Given the description of an element on the screen output the (x, y) to click on. 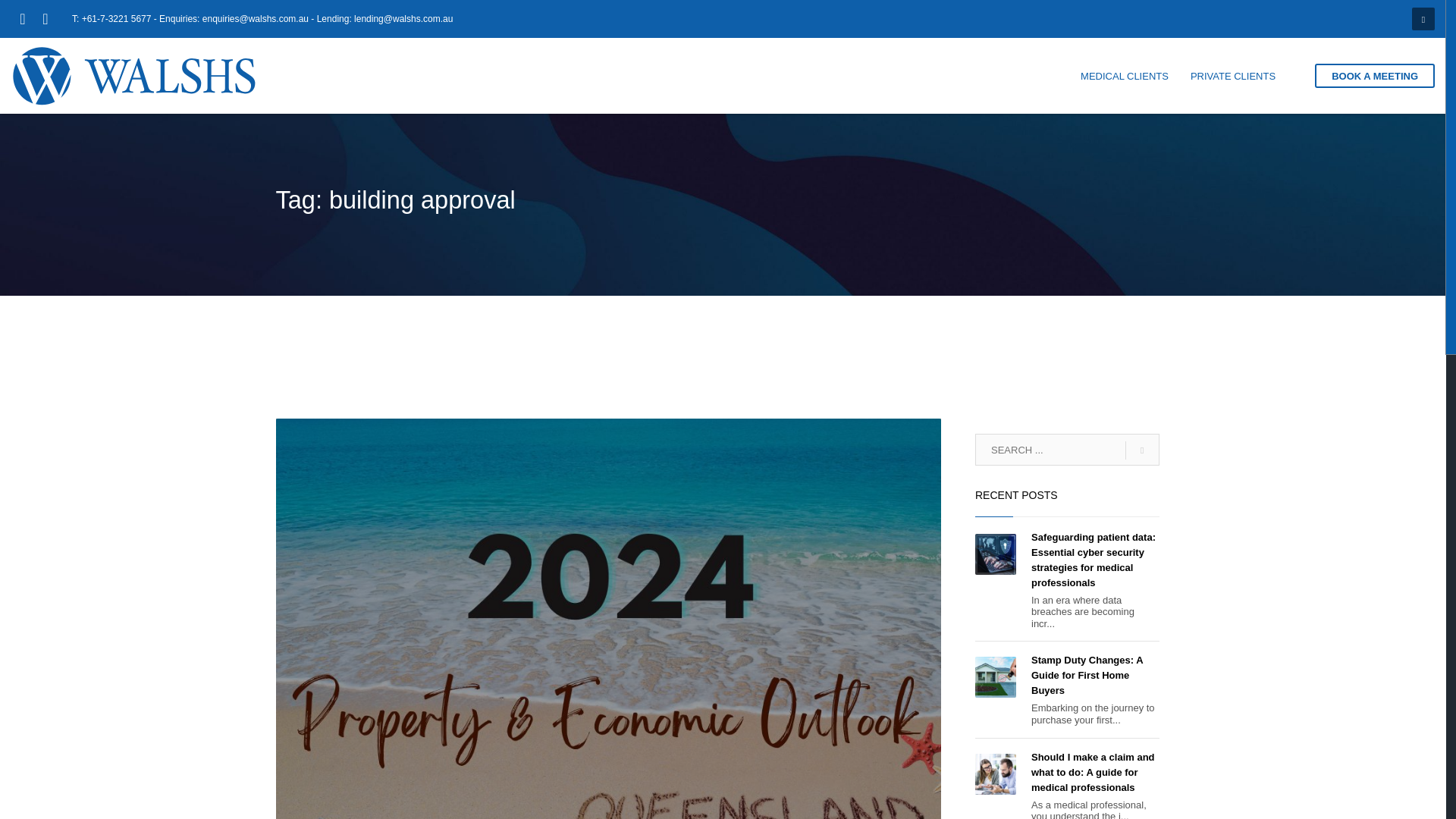
go (1141, 450)
PRIVATE CLIENTS (1232, 75)
MEDICAL CLIENTS (1124, 75)
BOOK A MEETING (1374, 75)
Stamp Duty Changes: A Guide for First Home Buyers (1086, 675)
Stamp Duty Changes: A Guide for First Home Buyers (1086, 675)
